Given the description of an element on the screen output the (x, y) to click on. 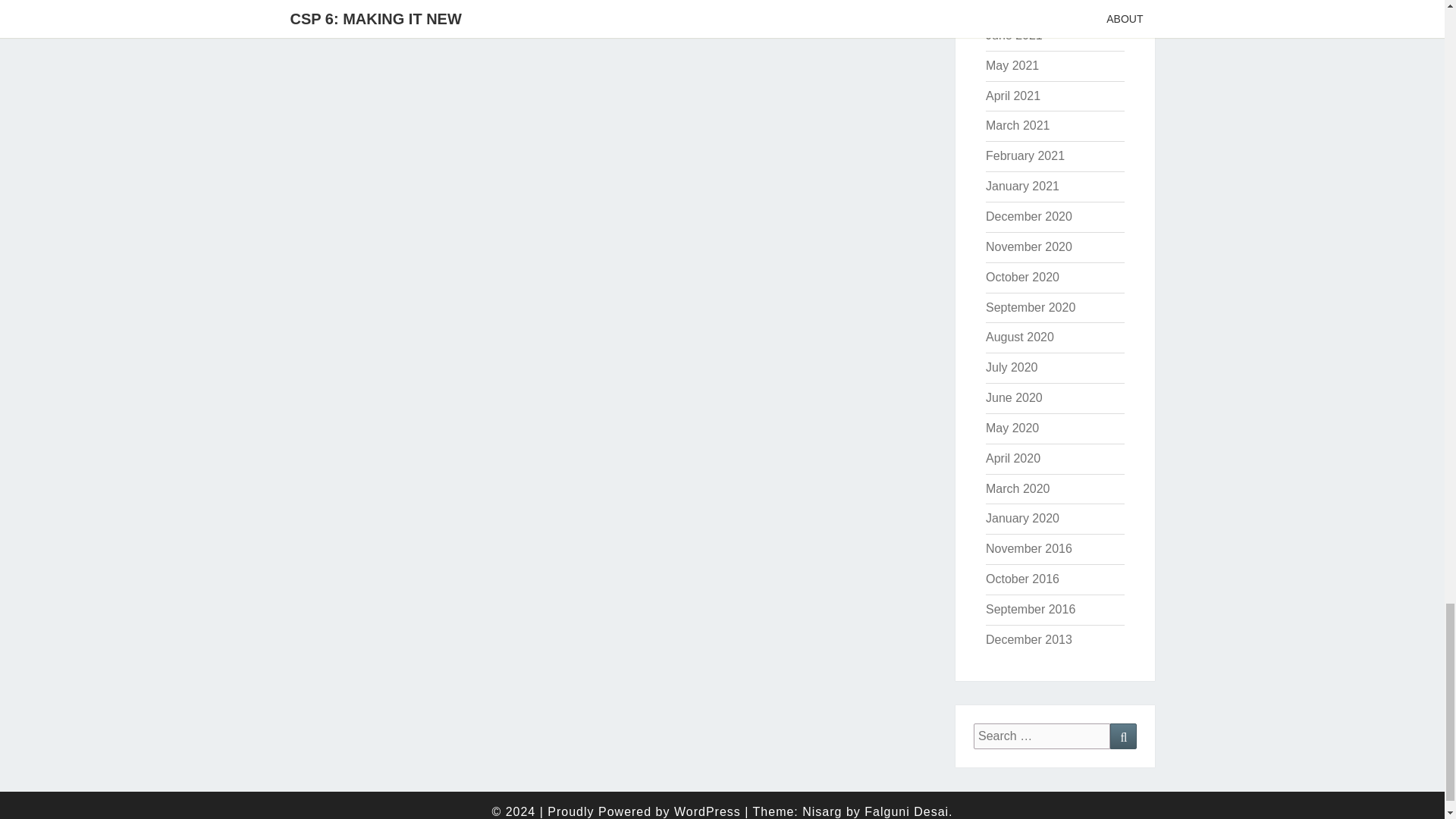
Search for: (1041, 736)
